Given the description of an element on the screen output the (x, y) to click on. 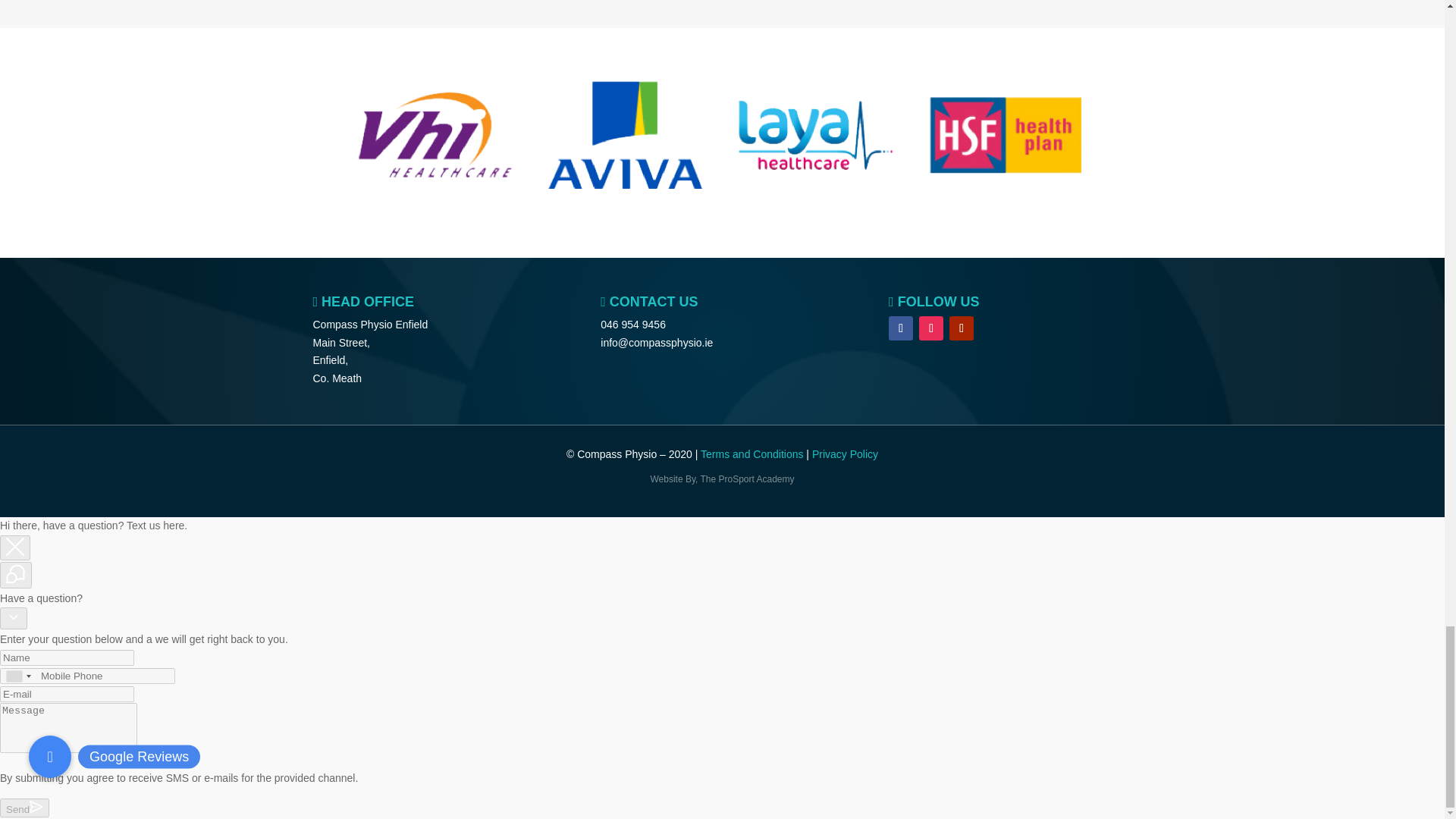
Follow on Youtube (961, 328)
Follow on Facebook (900, 328)
Follow on Instagram (930, 328)
